Given the description of an element on the screen output the (x, y) to click on. 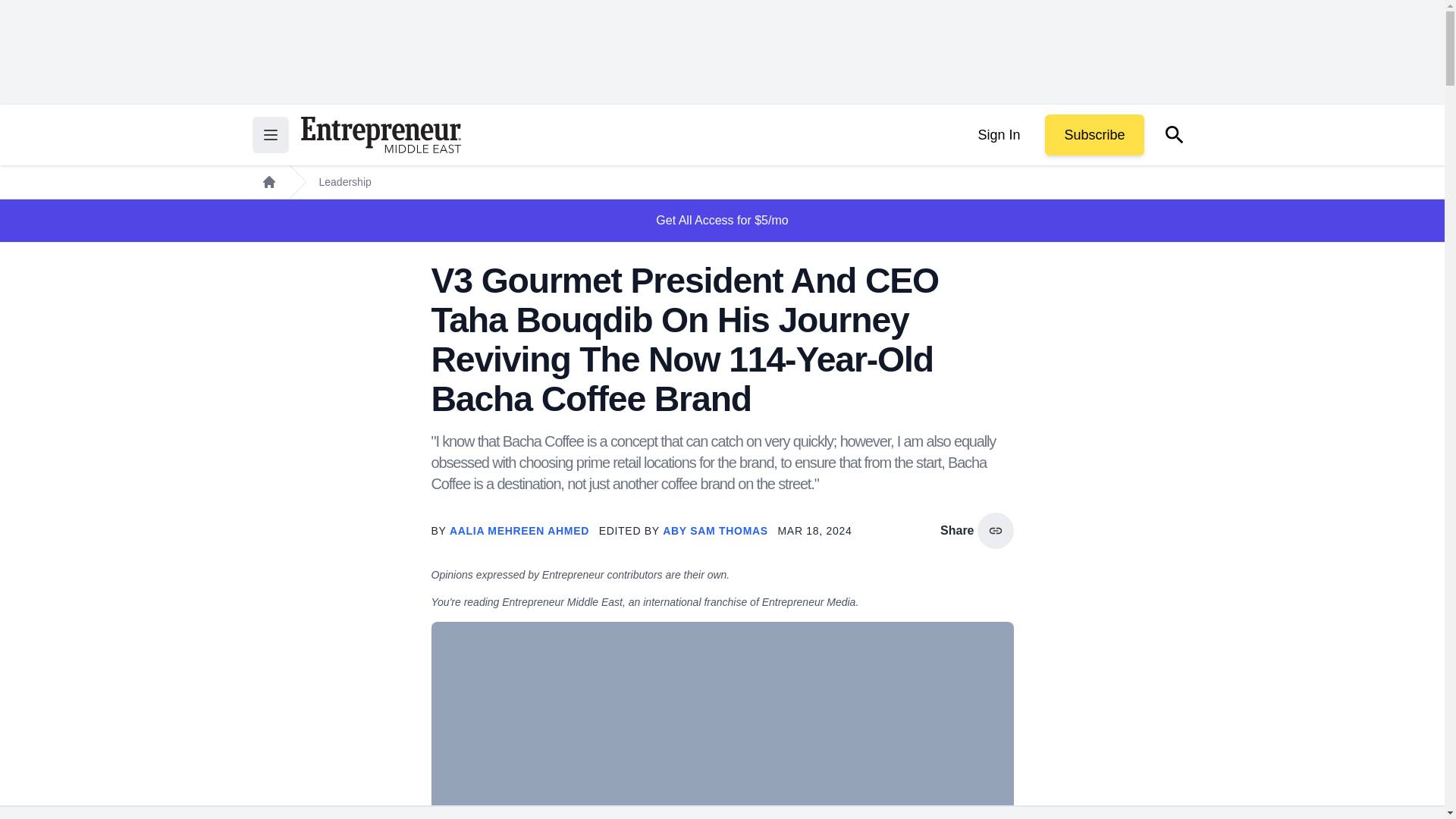
Return to the home page (380, 135)
copy (994, 530)
Sign In (998, 134)
Subscribe (1093, 134)
